Given the description of an element on the screen output the (x, y) to click on. 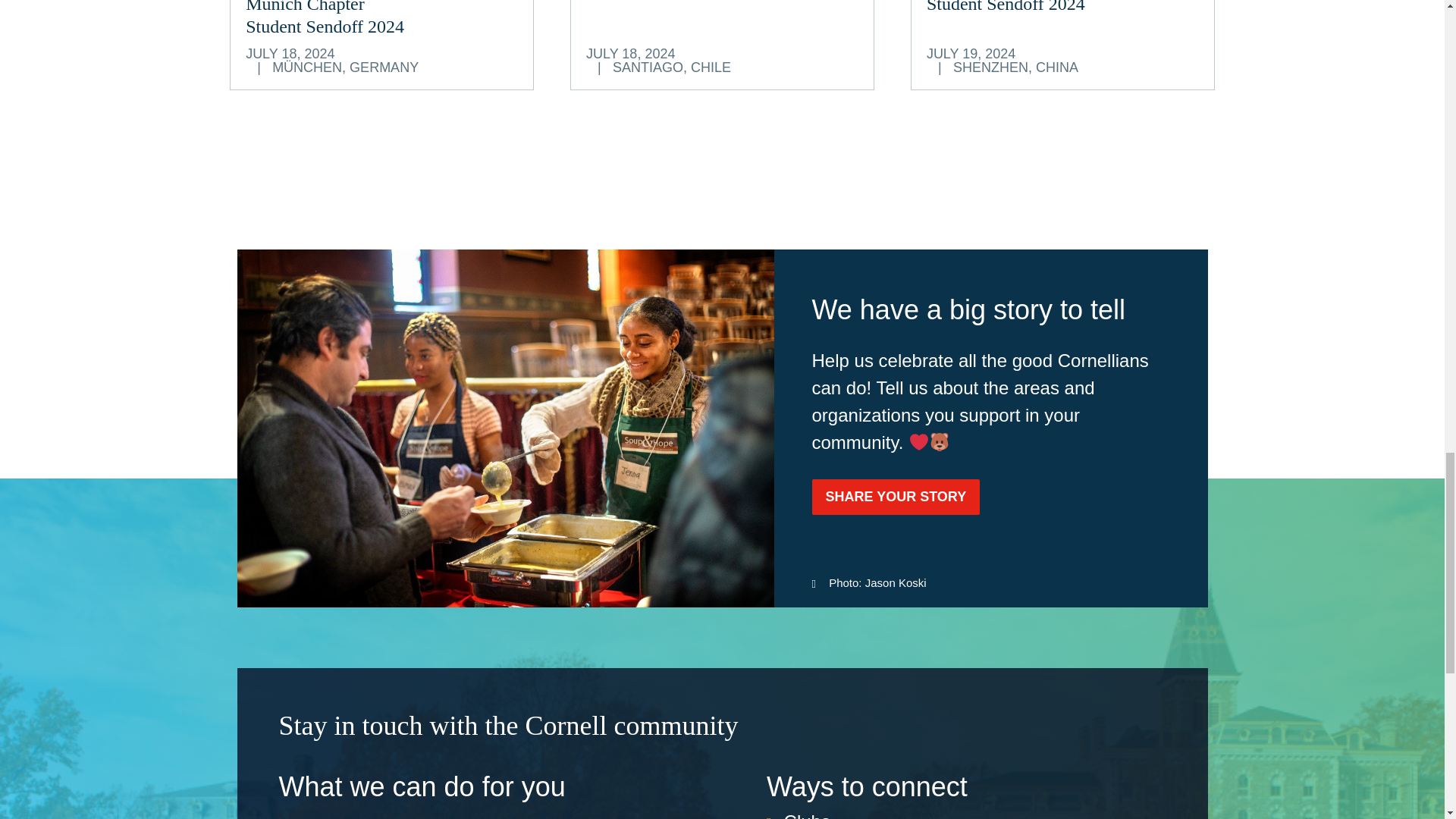
Clubs (1021, 6)
SHARE YOUR STORY (806, 815)
